Given the description of an element on the screen output the (x, y) to click on. 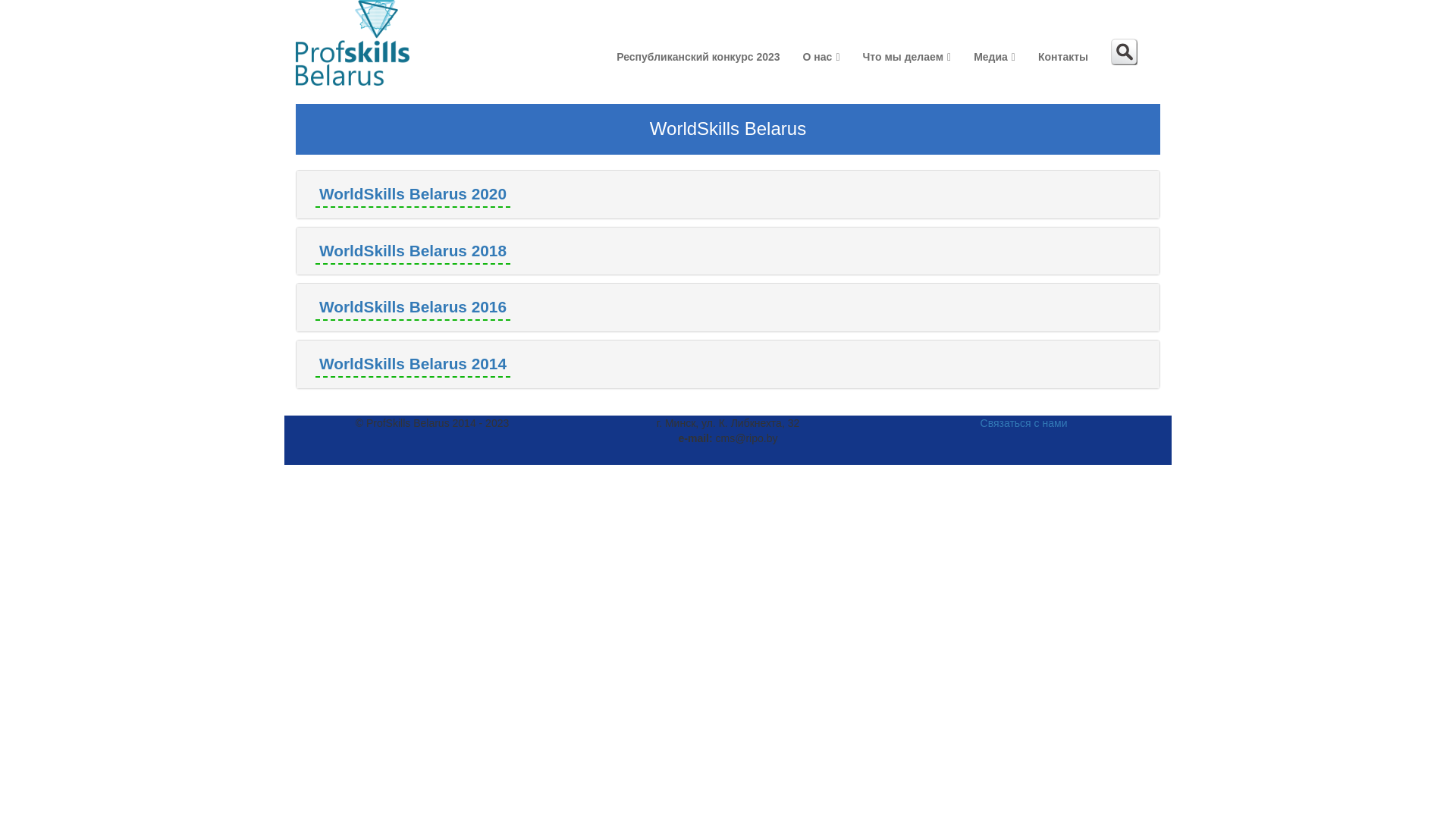
WorldSkills Belarus 2018 Element type: text (412, 251)
WorldSkills Belarus 2016 Element type: text (412, 307)
WorldSkills Belarus 2014 Element type: text (412, 364)
WorldSkills Belarus 2020 Element type: text (412, 194)
